Given the description of an element on the screen output the (x, y) to click on. 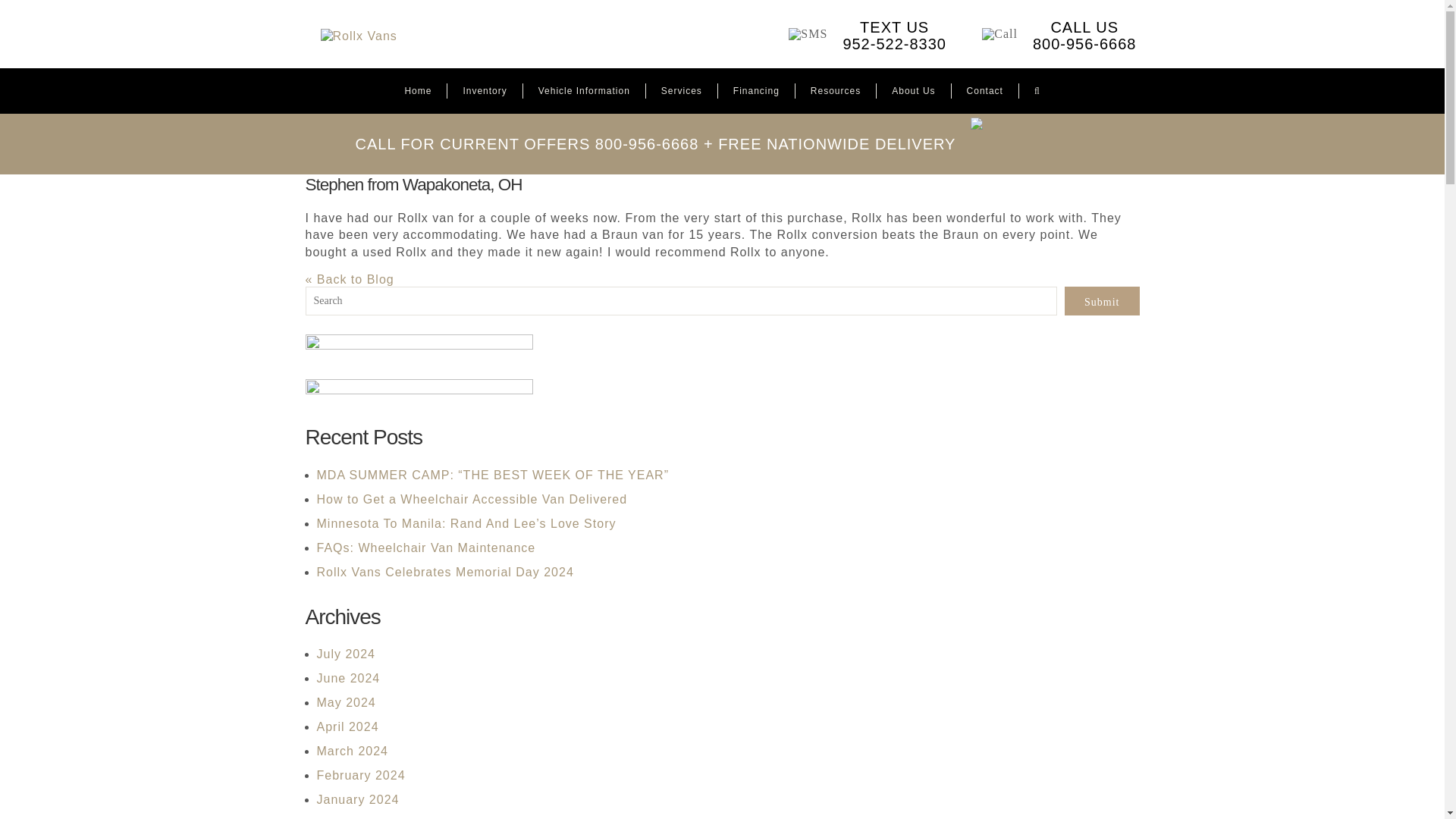
Inventory (484, 90)
Services (681, 90)
Resources (835, 90)
Vehicle Information (584, 90)
Search (1037, 90)
Financing (1044, 34)
Home (755, 90)
